Given the description of an element on the screen output the (x, y) to click on. 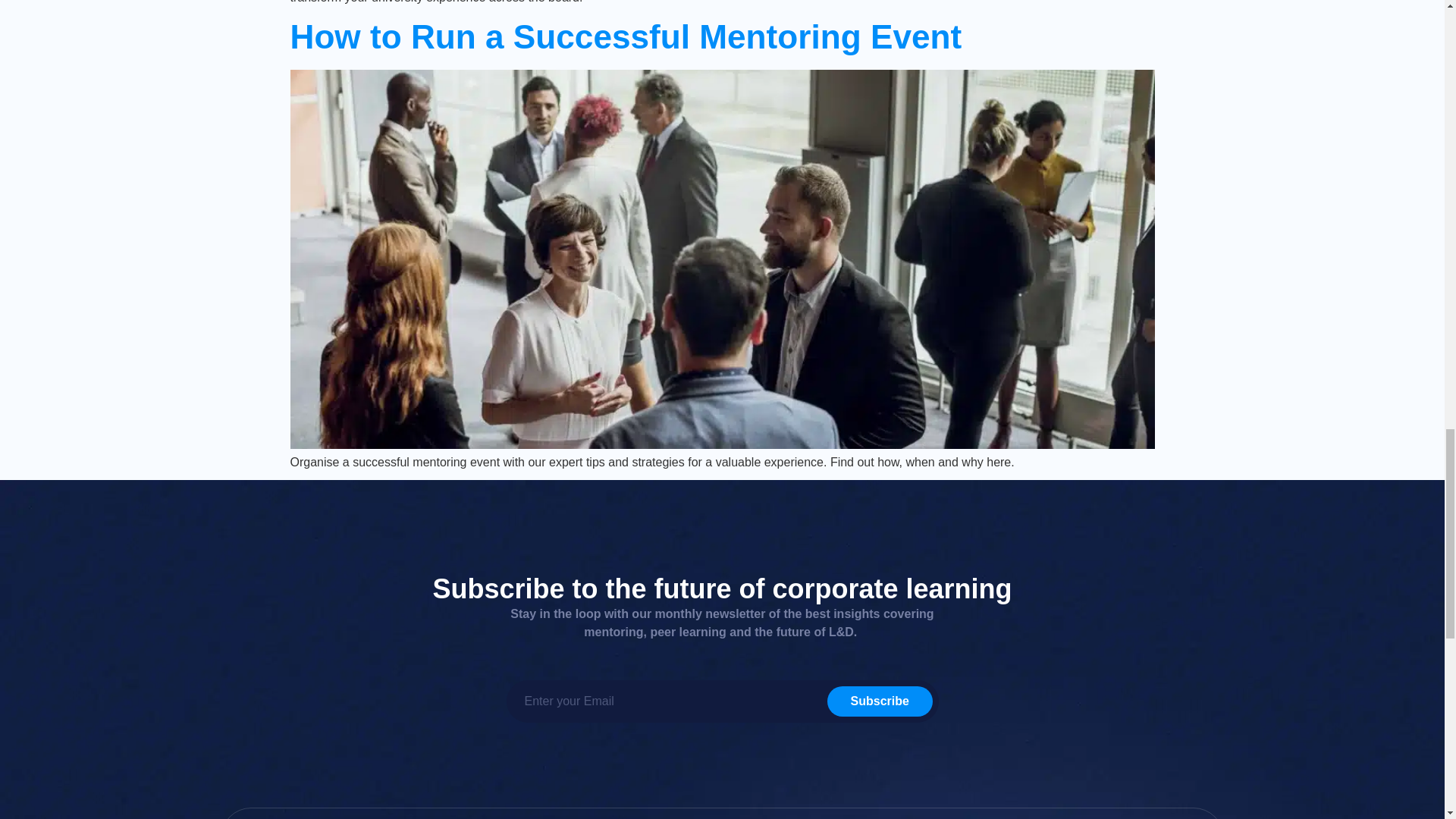
Subscribe (880, 701)
How to Run a Successful Mentoring Event (624, 36)
